Given the description of an element on the screen output the (x, y) to click on. 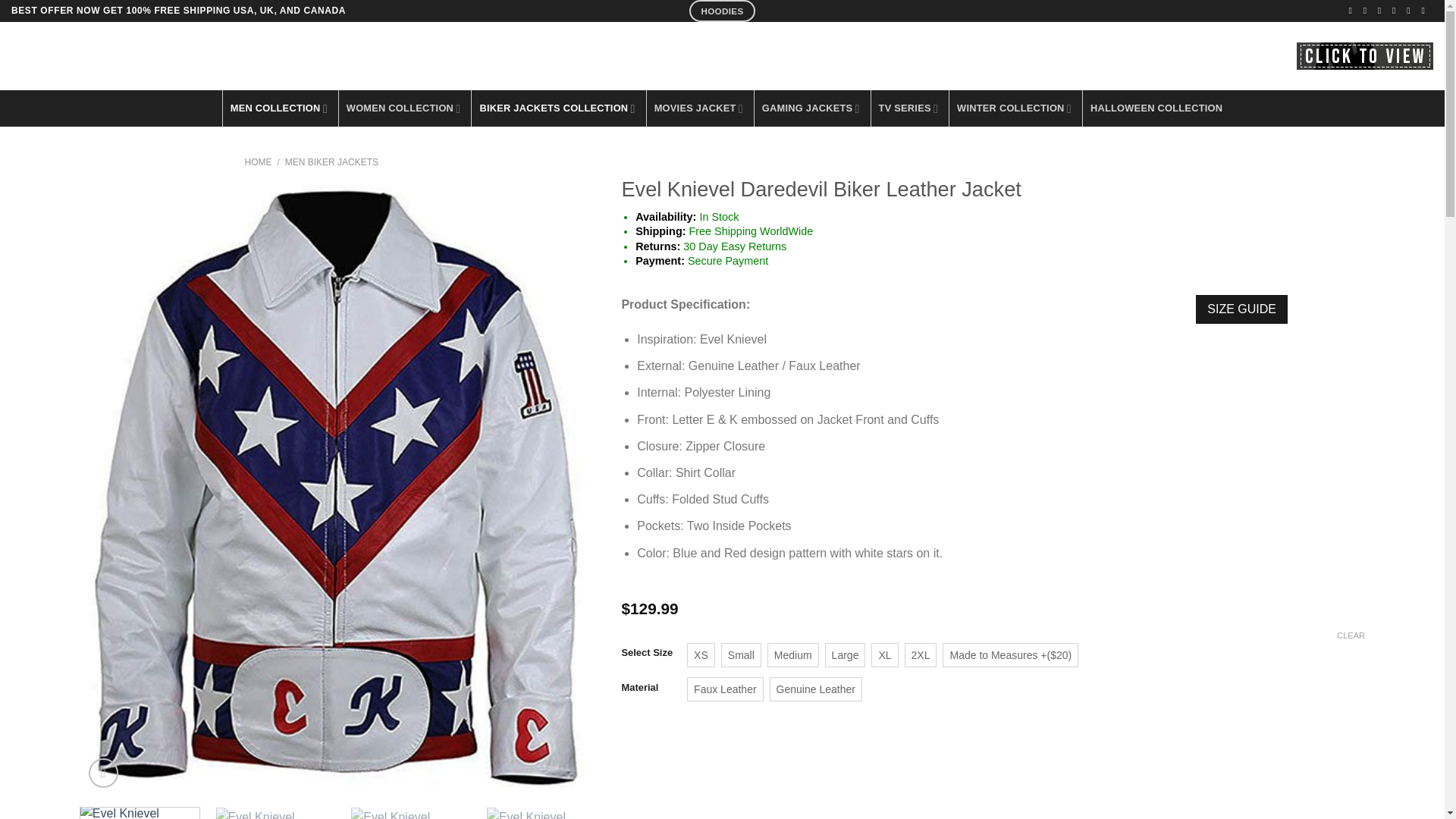
Zoom (102, 772)
Small (741, 654)
Medium (793, 654)
2XL (920, 654)
XL (884, 654)
Large (844, 654)
Cart (1228, 56)
LOGIN (1144, 55)
XS (700, 654)
